Given the description of an element on the screen output the (x, y) to click on. 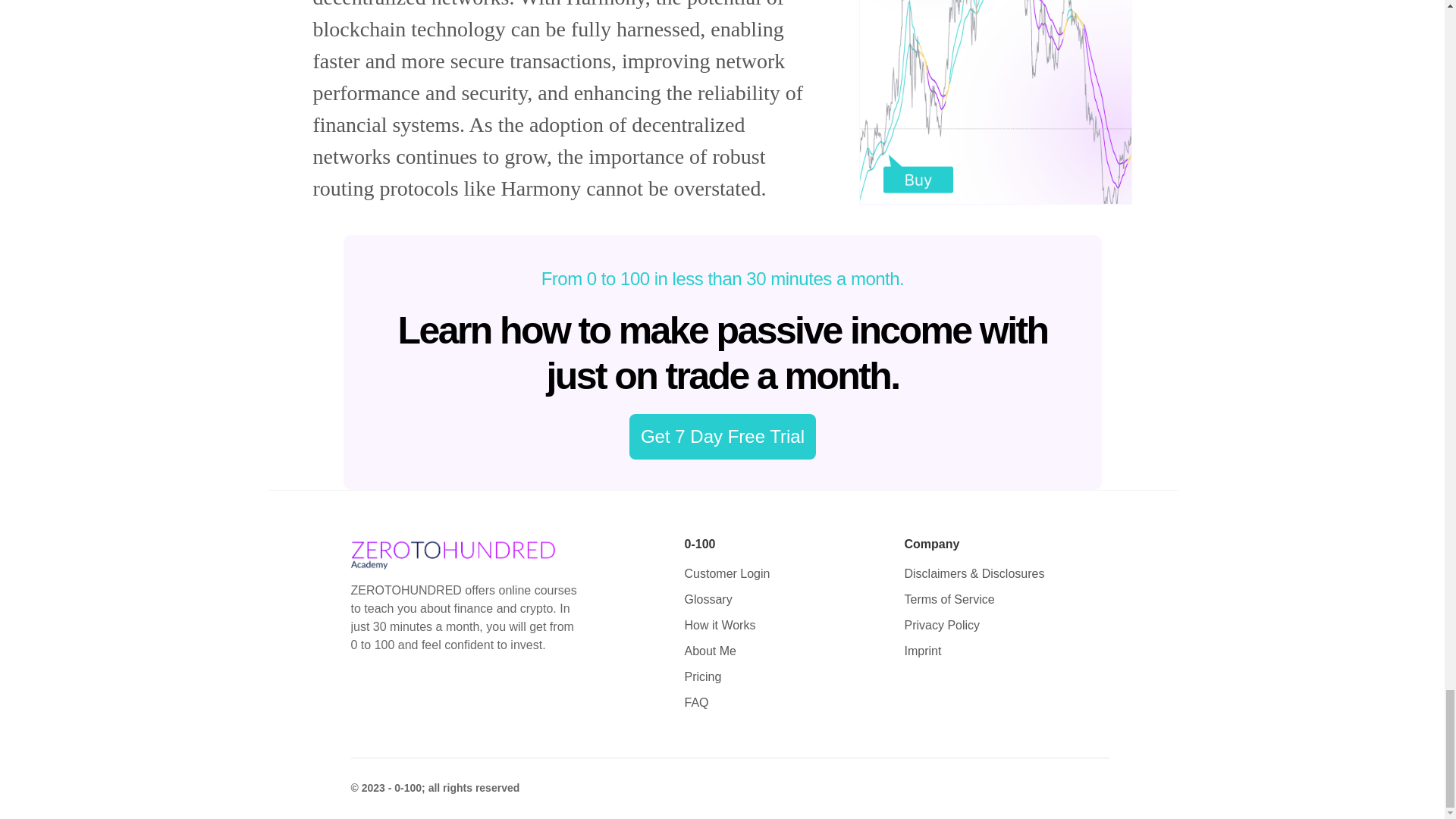
Customer Login (727, 573)
Imprint (922, 650)
Glossary (708, 599)
FAQ (695, 702)
Pricing (702, 676)
How it Works (719, 625)
Terms of Service (949, 599)
About Me (709, 650)
Privacy Policy (941, 625)
Get 7 Day Free Trial (721, 436)
